Given the description of an element on the screen output the (x, y) to click on. 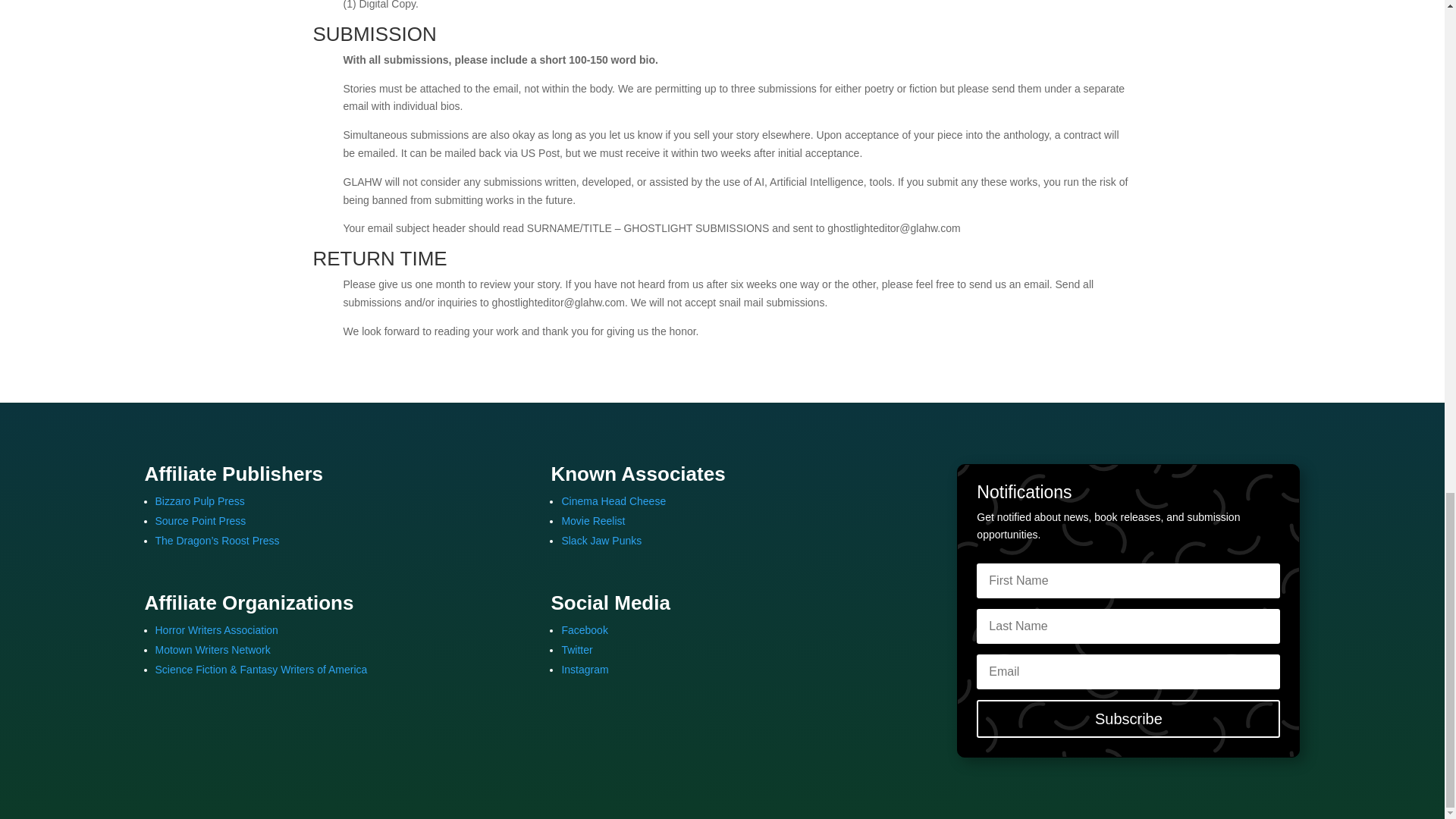
Motown Writers Network (211, 649)
Twitter (576, 649)
Bizzaro Pulp Press (199, 500)
Slack Jaw Punks (601, 540)
Facebook (583, 630)
Source Point Press (200, 521)
Movie Reelist (592, 521)
Horror Writers Association (216, 630)
Cinema Head Cheese (612, 500)
